Given the description of an element on the screen output the (x, y) to click on. 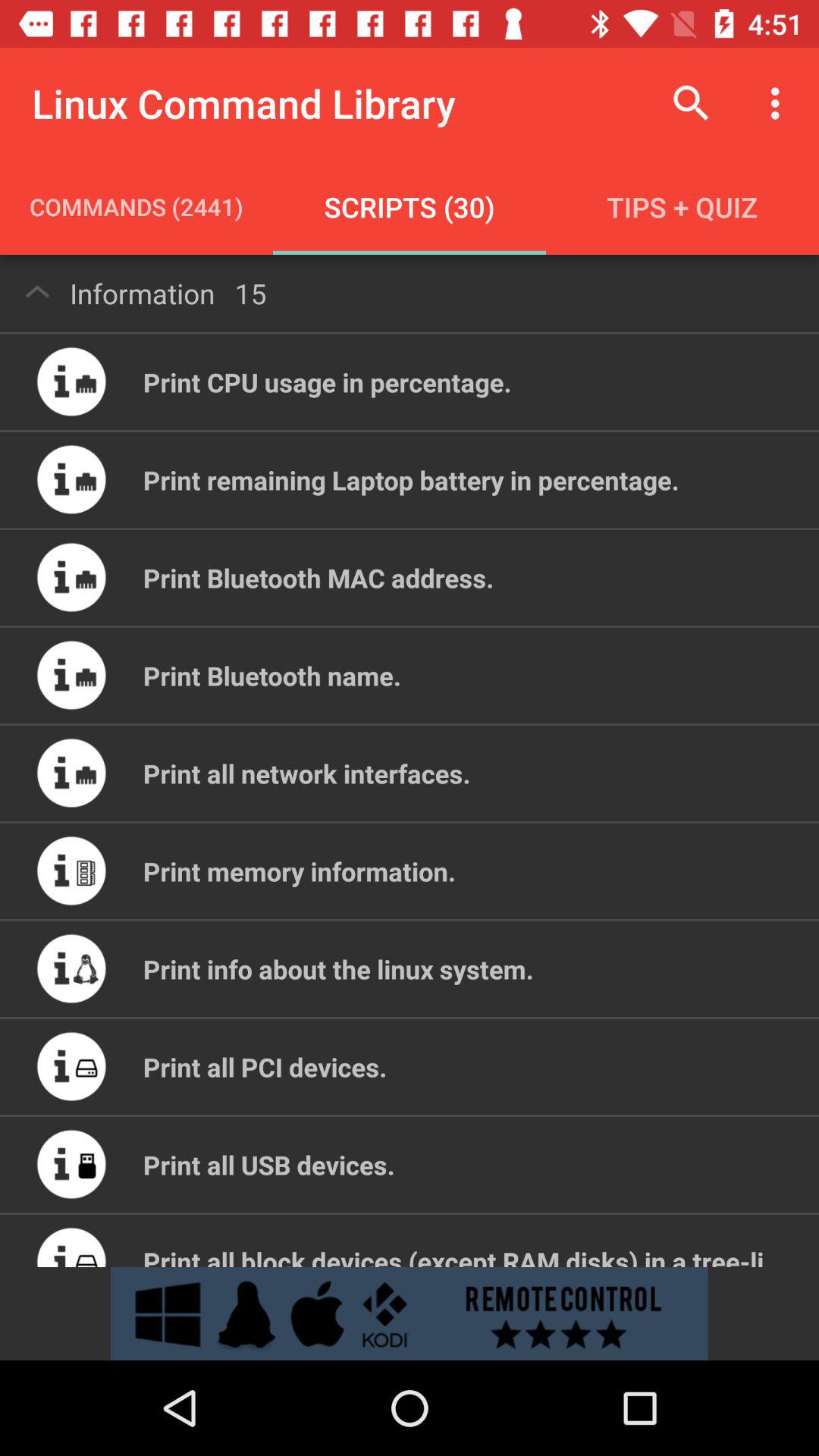
open banner advertisement (409, 1313)
